Given the description of an element on the screen output the (x, y) to click on. 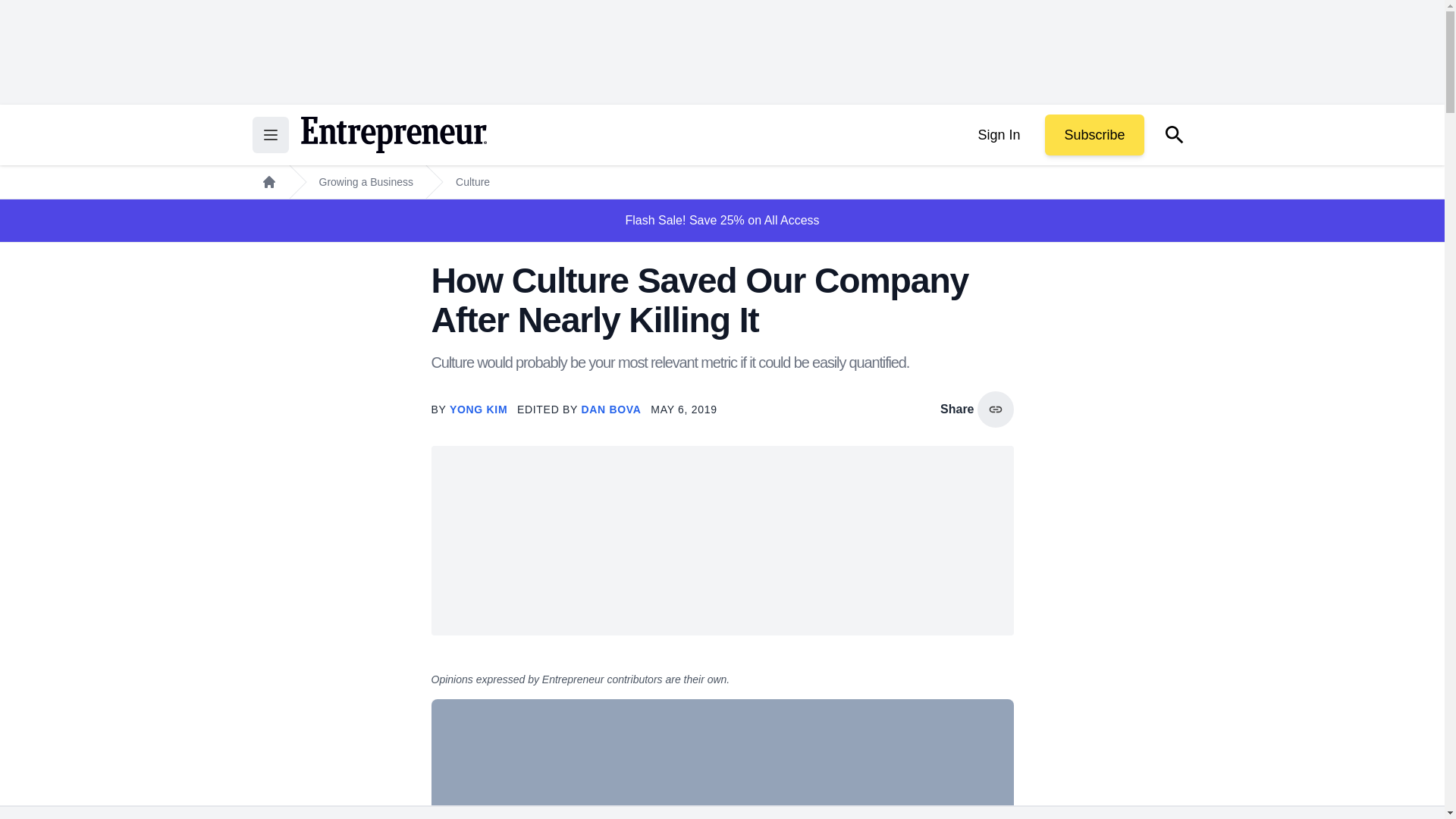
copy (994, 409)
Sign In (998, 134)
Subscribe (1093, 134)
Return to the home page (392, 135)
